Given the description of an element on the screen output the (x, y) to click on. 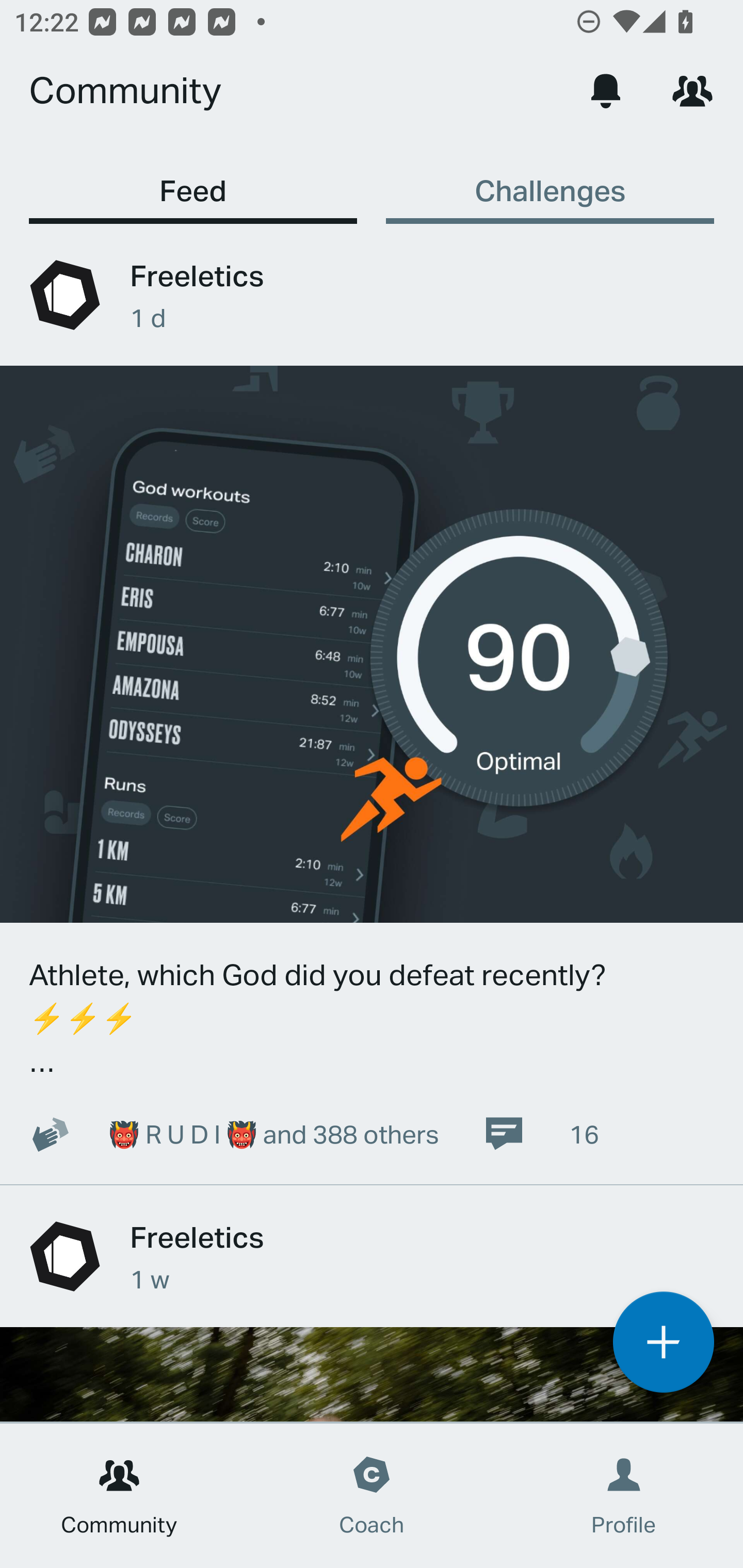
Notifications (605, 90)
Network (692, 90)
Feed (192, 180)
Challenges (549, 180)
👹 R U D I 👹 and 388 others (223, 1133)
16 (540, 1133)
Coach (371, 1495)
Profile (624, 1495)
